Given the description of an element on the screen output the (x, y) to click on. 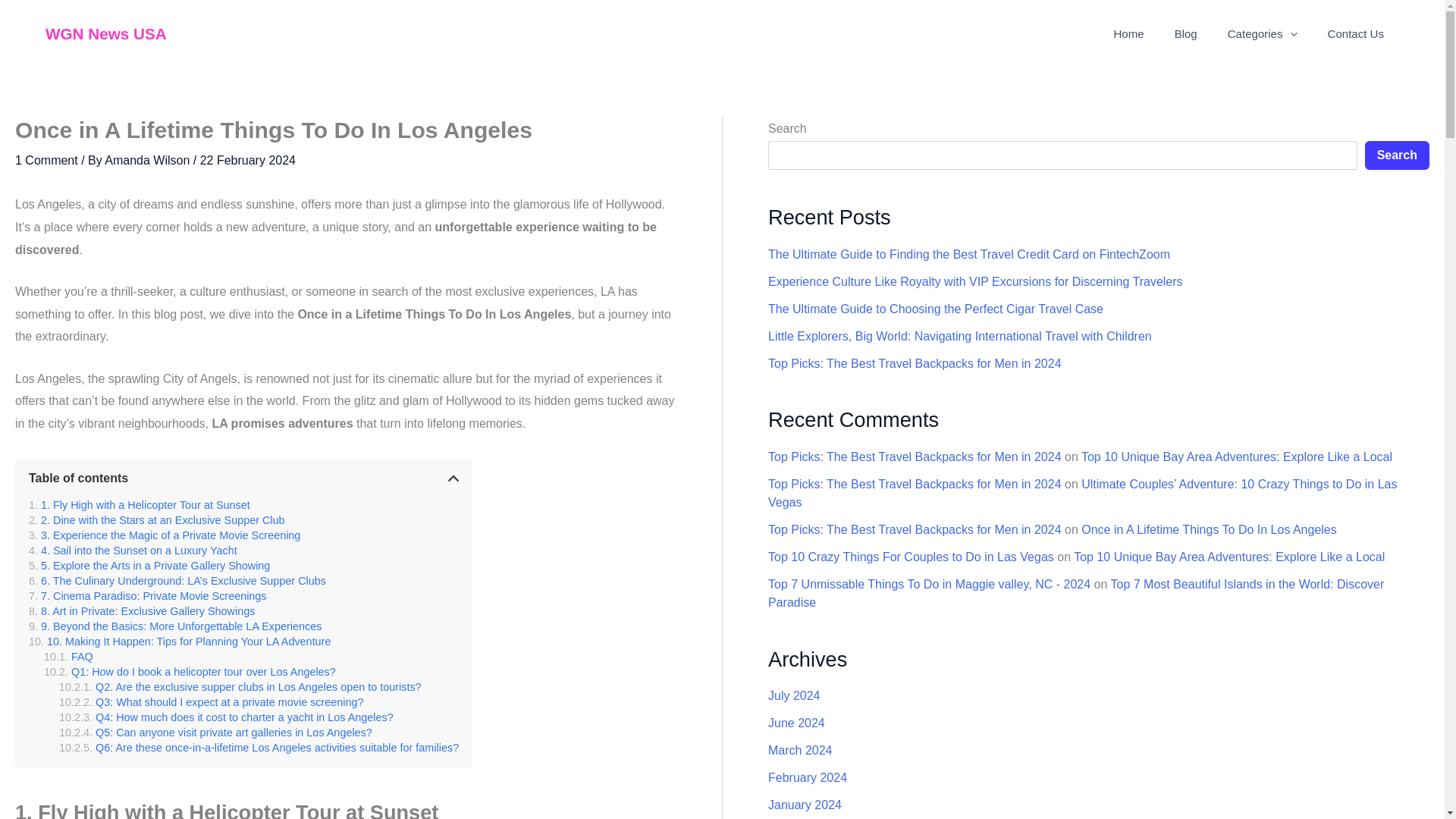
Amanda Wilson (148, 160)
FAQ (68, 656)
Q3: What should I expect at a private movie screening? (211, 702)
10. Making It Happen: Tips for Planning Your LA Adventure (179, 641)
Q4: How much does it cost to charter a yacht in Los Angeles? (226, 717)
Q1: How do I book a helicopter tour over Los Angeles? (189, 671)
8. Art in Private: Exclusive Gallery Showings (141, 611)
WGN News USA (106, 33)
7. Cinema Paradiso: Private Movie Screenings (147, 595)
